Given the description of an element on the screen output the (x, y) to click on. 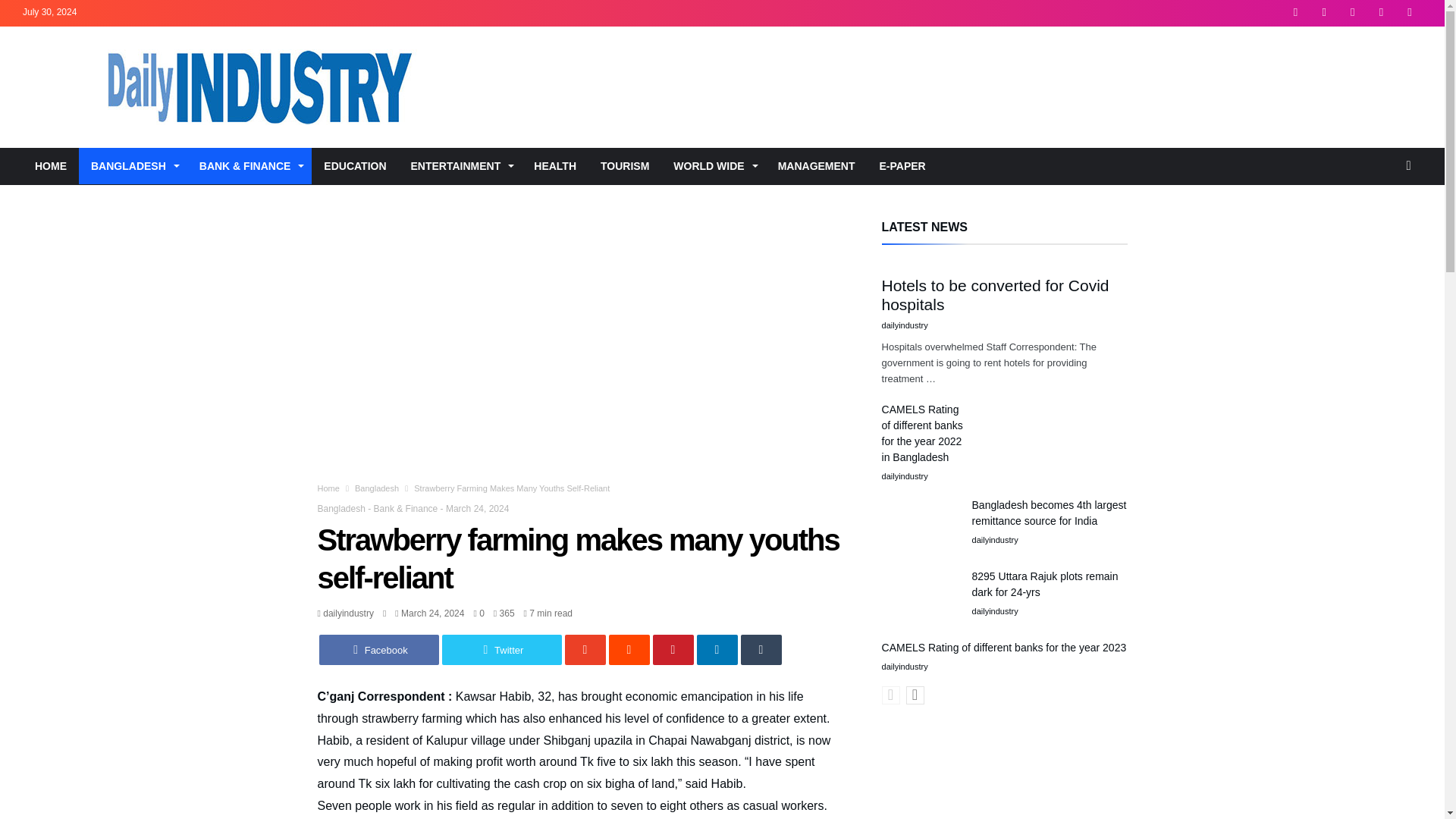
dailyindustry (344, 613)
linkedin (715, 649)
tumblr (759, 649)
E-PAPER (902, 166)
Bangladesh (376, 488)
Facebook (378, 649)
The Daily Industry (401, 48)
pinterest (672, 649)
HOME (50, 166)
EDUCATION (354, 166)
Youtube (1409, 13)
WORLD WIDE (713, 166)
ENTERTAINMENT (460, 166)
MANAGEMENT (816, 166)
google (584, 649)
